Given the description of an element on the screen output the (x, y) to click on. 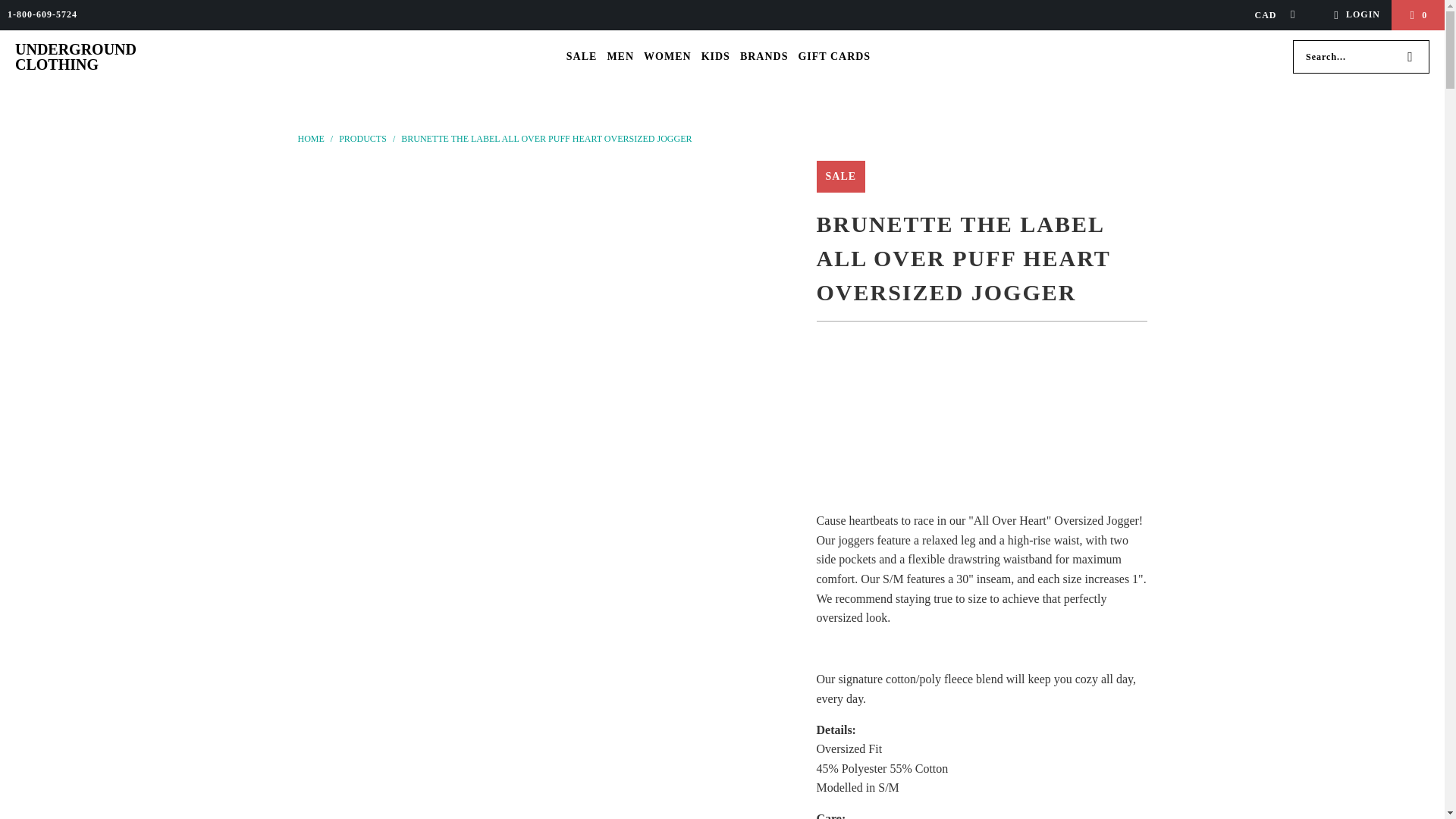
LOGIN (1354, 14)
Products (363, 138)
Underground Clothing (79, 56)
Underground Clothing (311, 138)
CAD (1269, 15)
My Account  (1354, 14)
1-800-609-5724 (42, 14)
